Given the description of an element on the screen output the (x, y) to click on. 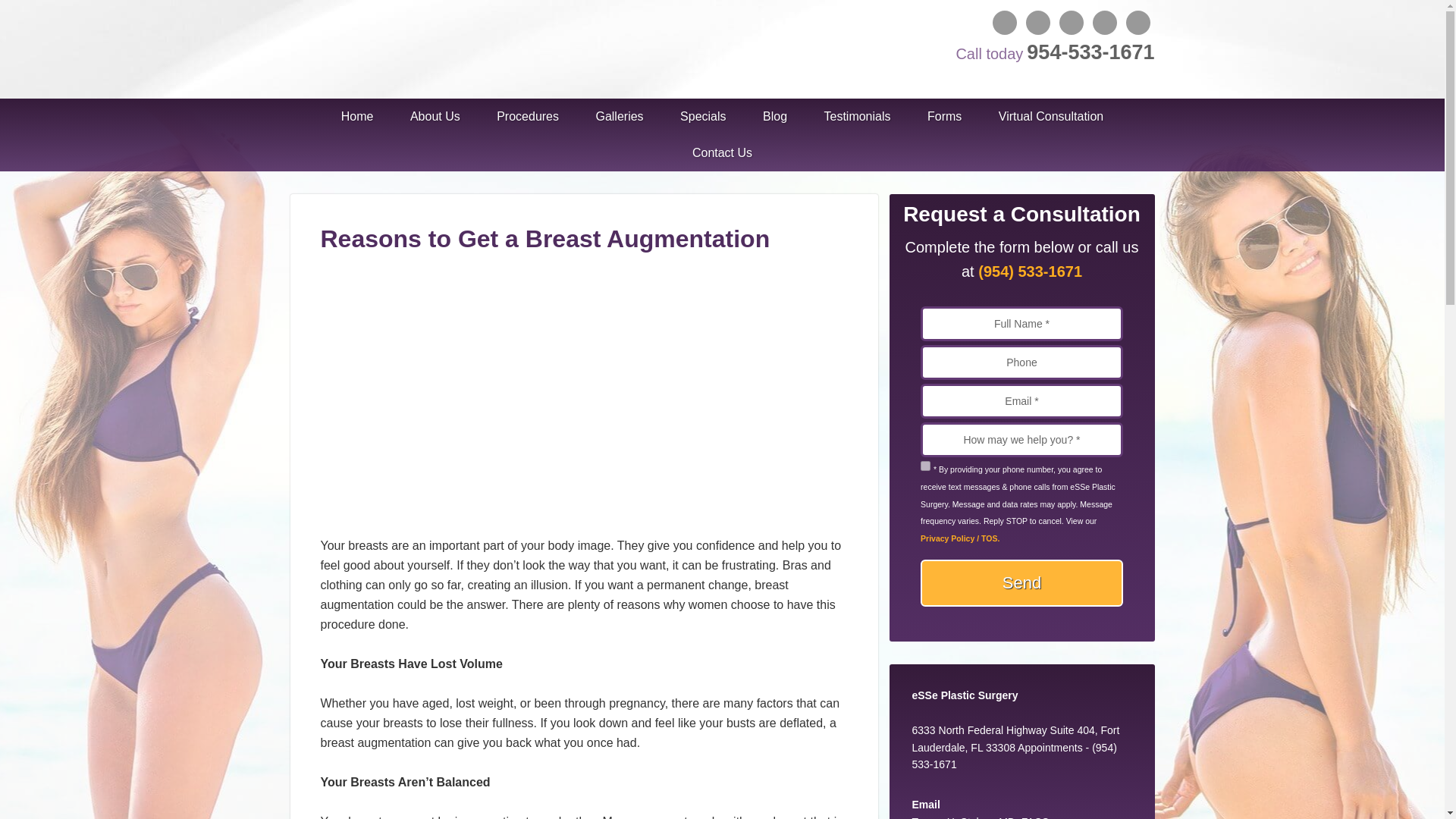
Send (1021, 582)
Home (357, 116)
Call today954-533-1671 (1053, 52)
1 (925, 465)
Reasons to Get a Breast Augmentation (580, 525)
ESSE PLASTIC SURGERY (402, 45)
Procedures (527, 116)
About Us (435, 116)
Privacy Policy (959, 537)
